Given the description of an element on the screen output the (x, y) to click on. 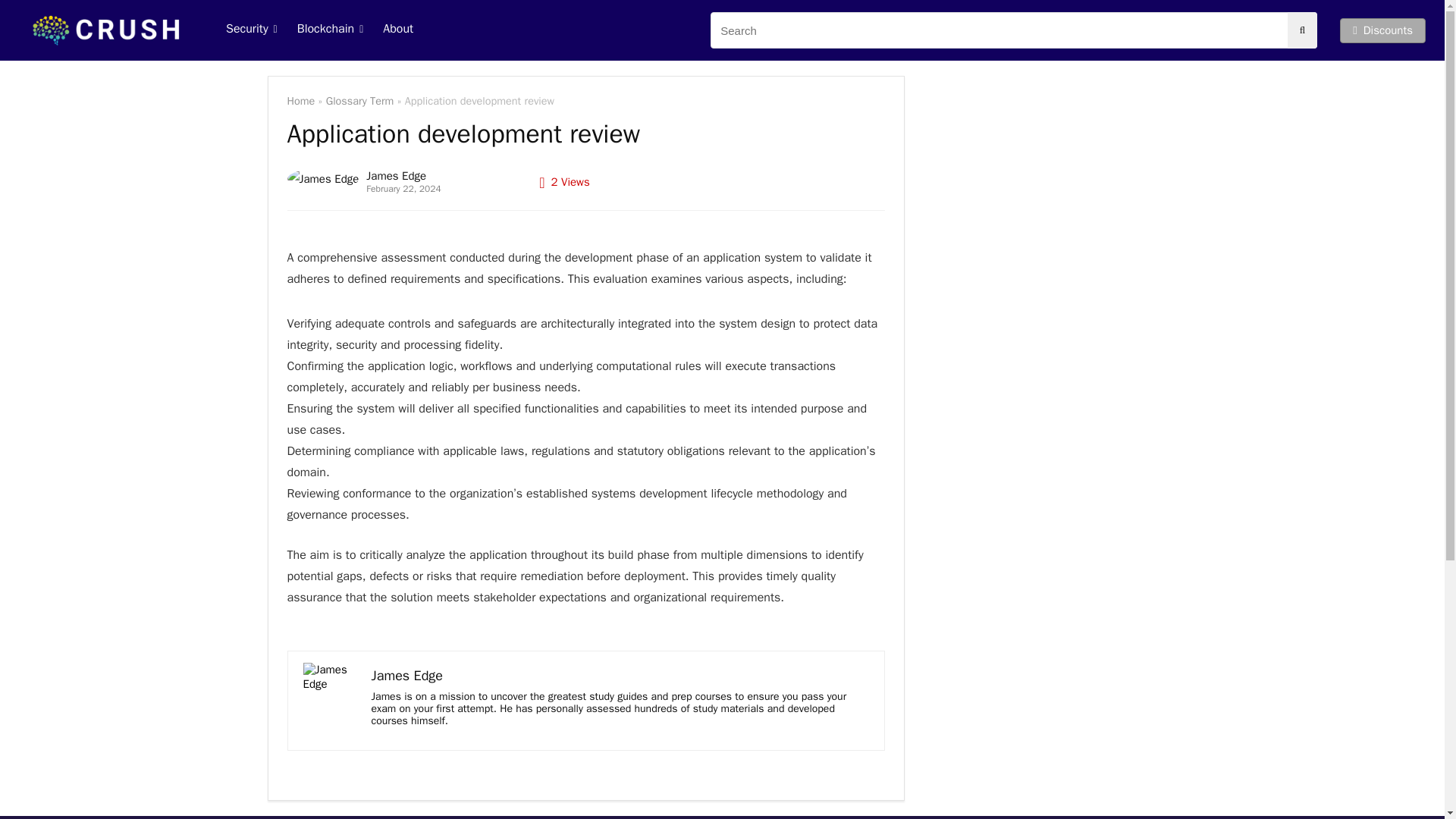
About (397, 30)
James Edge (396, 175)
James Edge (407, 675)
Glossary Term (360, 100)
Home (300, 100)
Security (250, 30)
Blockchain (330, 30)
Discounts (1382, 30)
